Given the description of an element on the screen output the (x, y) to click on. 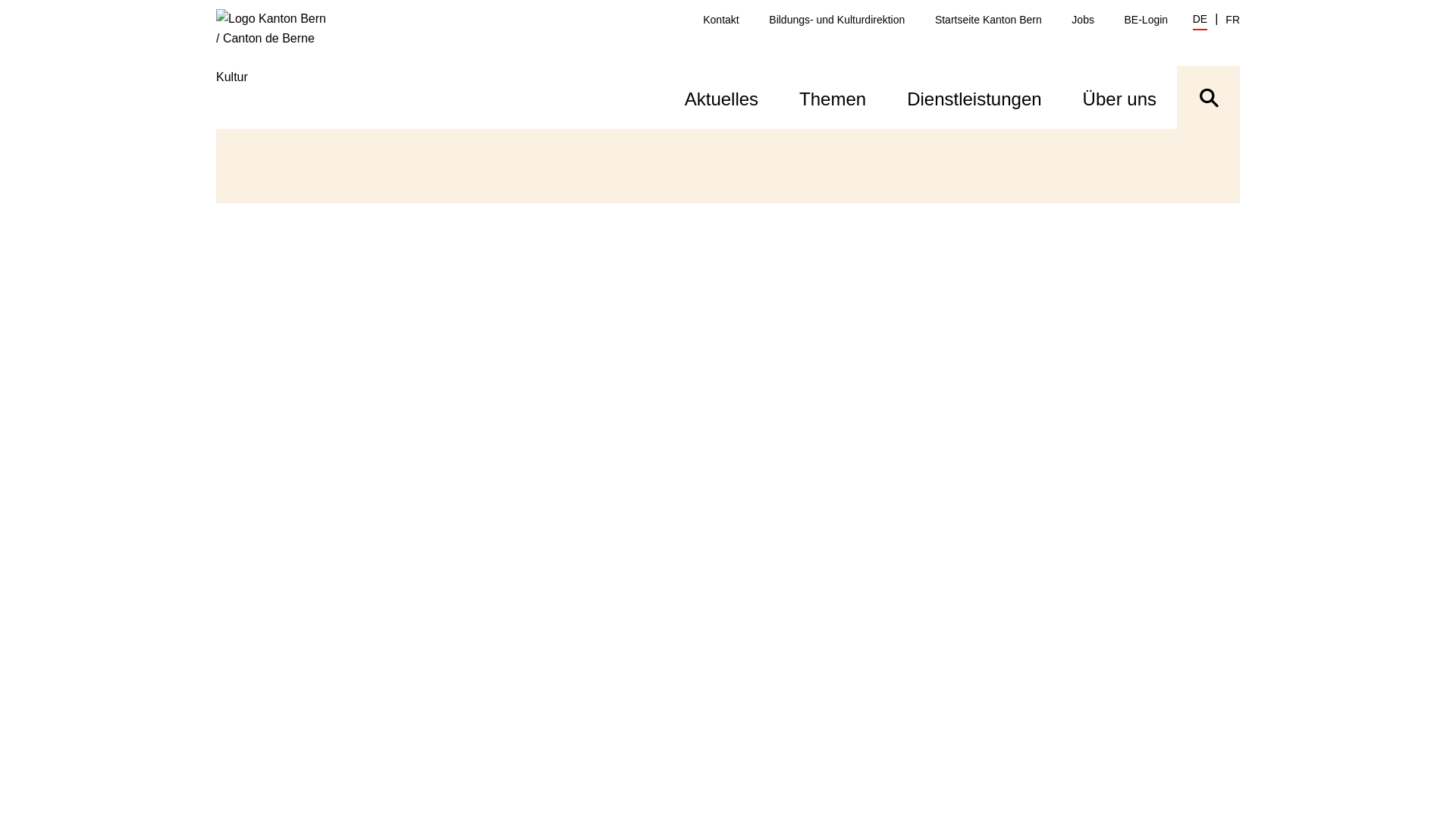
BE-Login Element type: text (1146, 19)
Aktuelles Element type: text (721, 96)
Suche ein- oder ausblenden Element type: text (1207, 96)
Dienstleistungen Element type: text (973, 96)
Startseite Kanton Bern Element type: text (988, 19)
Kultur Element type: text (281, 68)
Jobs Element type: text (1082, 19)
Kontakt Element type: text (720, 19)
DE Element type: text (1199, 21)
FR Element type: text (1232, 19)
Themen Element type: text (832, 96)
Bildungs- und Kulturdirektion Element type: text (836, 19)
